Given the description of an element on the screen output the (x, y) to click on. 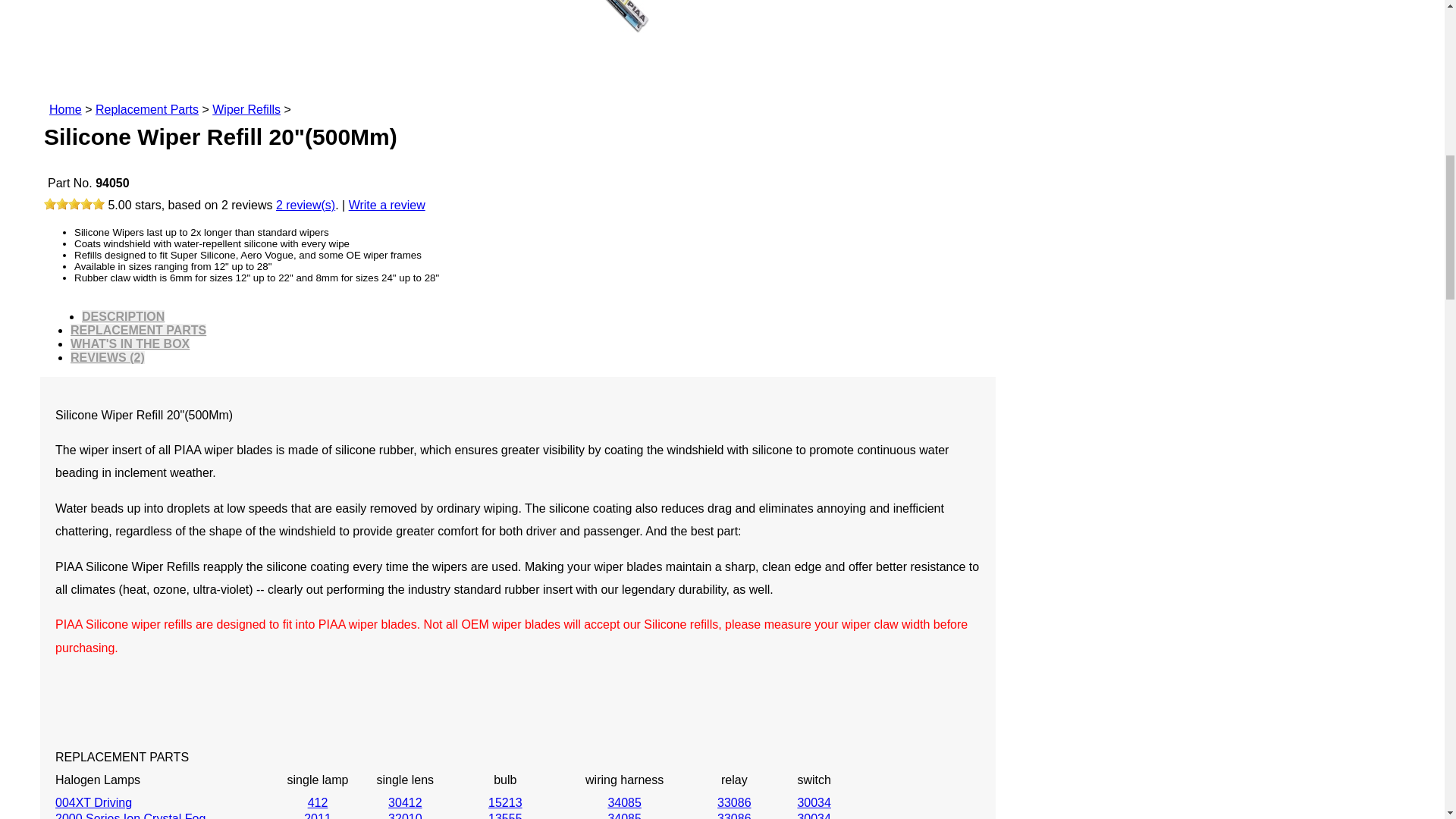
WHAT'S IN THE BOX (129, 343)
Write a review (387, 205)
004XT Driving (93, 802)
Home (65, 109)
Wiper Refills (246, 109)
DESCRIPTION (122, 316)
REPLACEMENT PARTS (137, 329)
Replacement Parts (147, 109)
